Given the description of an element on the screen output the (x, y) to click on. 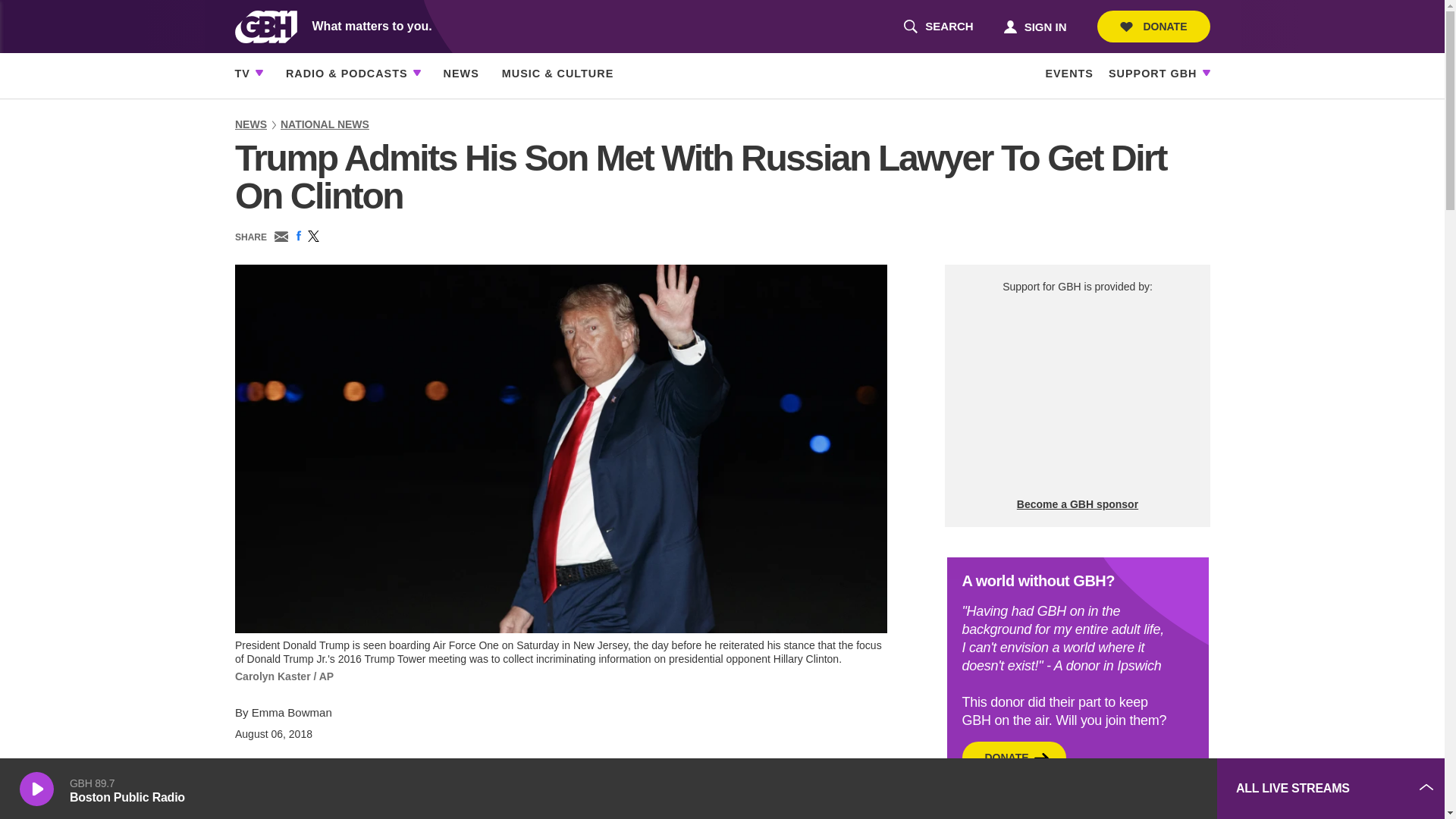
3rd party ad content (937, 26)
SIGN IN (1091, 788)
3rd party ad content (1034, 25)
DONATE (1076, 395)
